Given the description of an element on the screen output the (x, y) to click on. 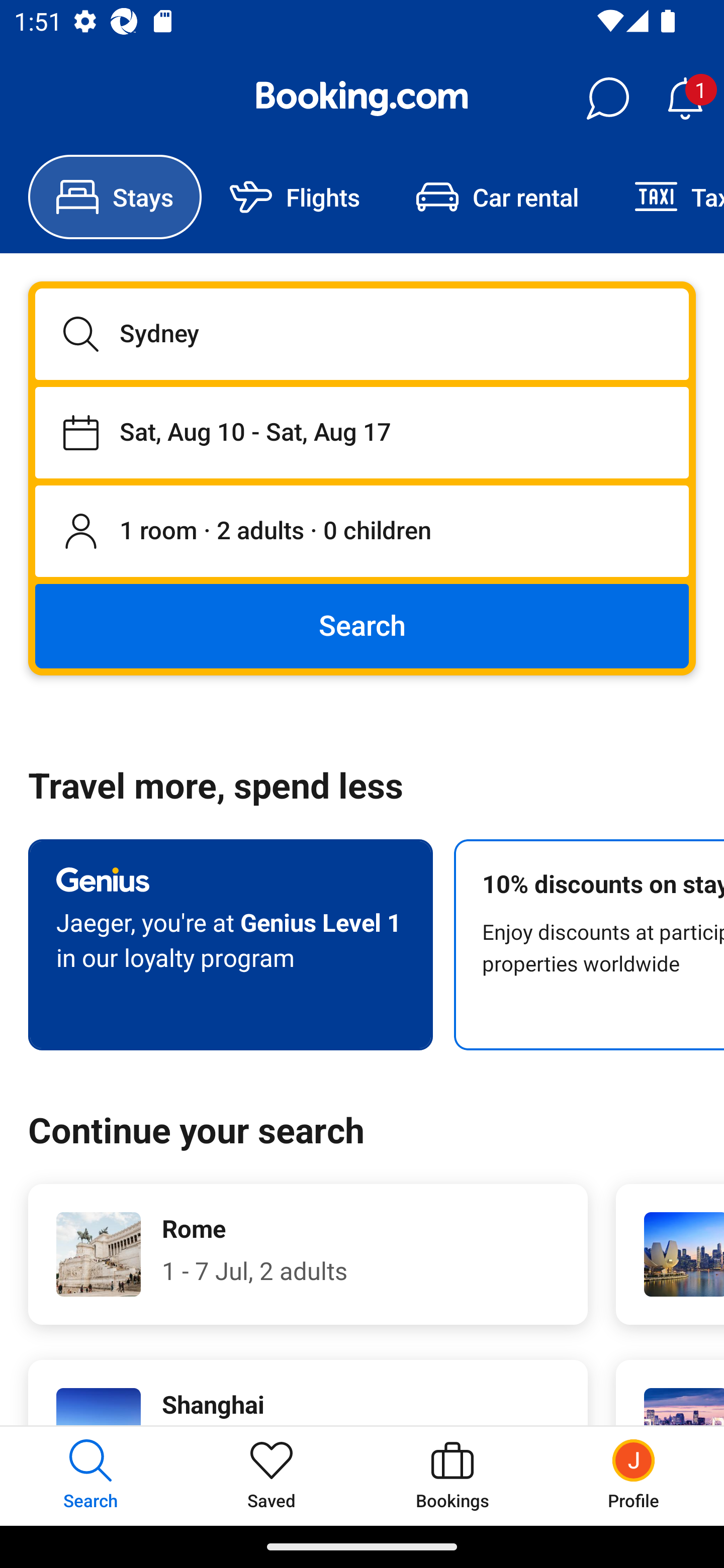
Messages (607, 98)
Notifications (685, 98)
Stays (114, 197)
Flights (294, 197)
Car rental (497, 197)
Taxi (665, 197)
Sydney (361, 333)
Staying from Sat, Aug 10 until Sat, Aug 17 (361, 432)
1 room, 2 adults, 0 children (361, 531)
Search (361, 625)
Rome 1 - 7 Jul, 2 adults (307, 1253)
Saved (271, 1475)
Bookings (452, 1475)
Profile (633, 1475)
